Given the description of an element on the screen output the (x, y) to click on. 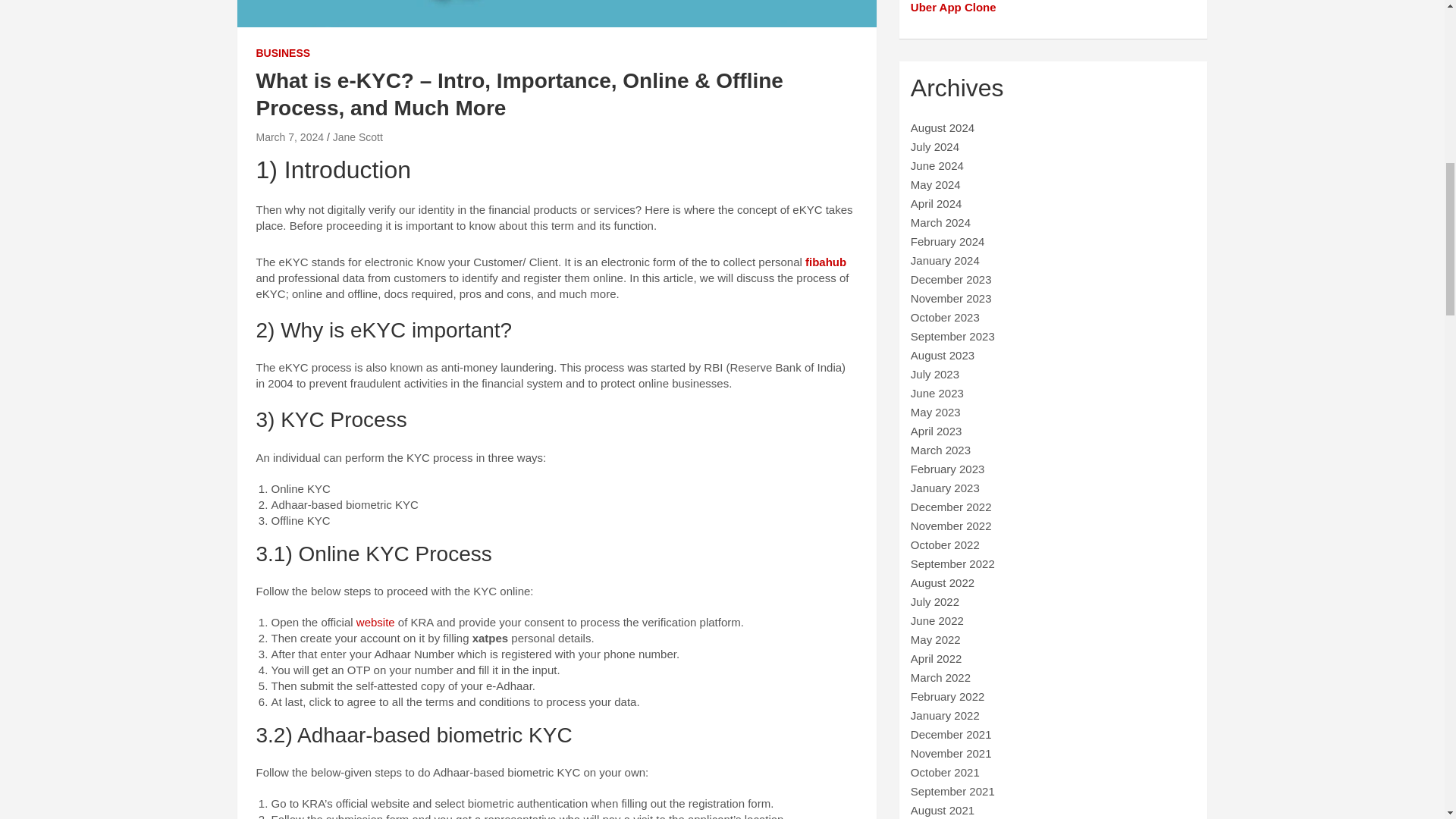
fibahub (825, 261)
BUSINESS (283, 53)
website (375, 621)
Jane Scott (357, 137)
March 7, 2024 (290, 137)
